Given the description of an element on the screen output the (x, y) to click on. 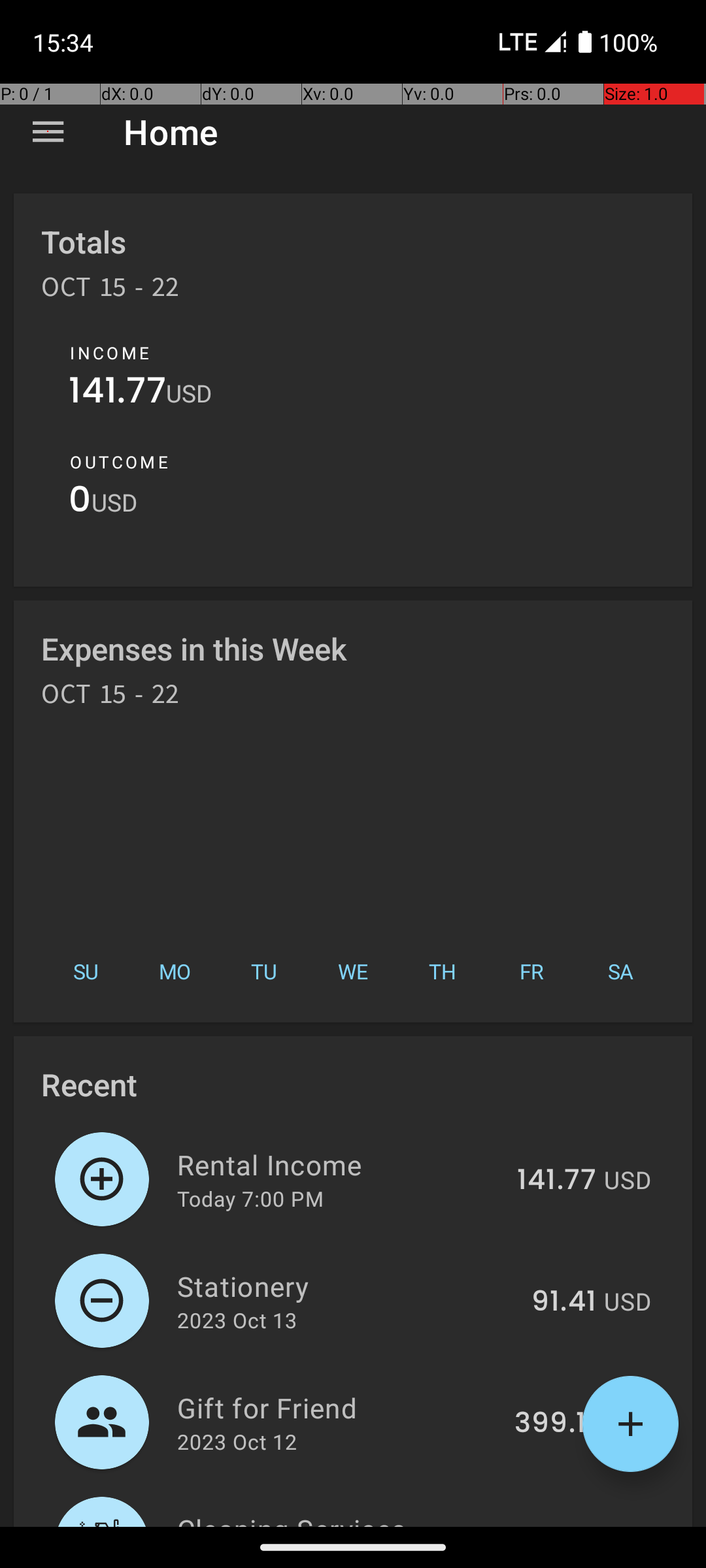
141.77 Element type: android.widget.TextView (117, 393)
Rental Income Element type: android.widget.TextView (339, 1164)
Stationery Element type: android.widget.TextView (346, 1285)
91.41 Element type: android.widget.TextView (563, 1301)
Gift for Friend Element type: android.widget.TextView (338, 1407)
399.11 Element type: android.widget.TextView (554, 1423)
Cleaning Services Element type: android.widget.TextView (341, 1518)
72.87 Element type: android.widget.TextView (558, 1524)
